Given the description of an element on the screen output the (x, y) to click on. 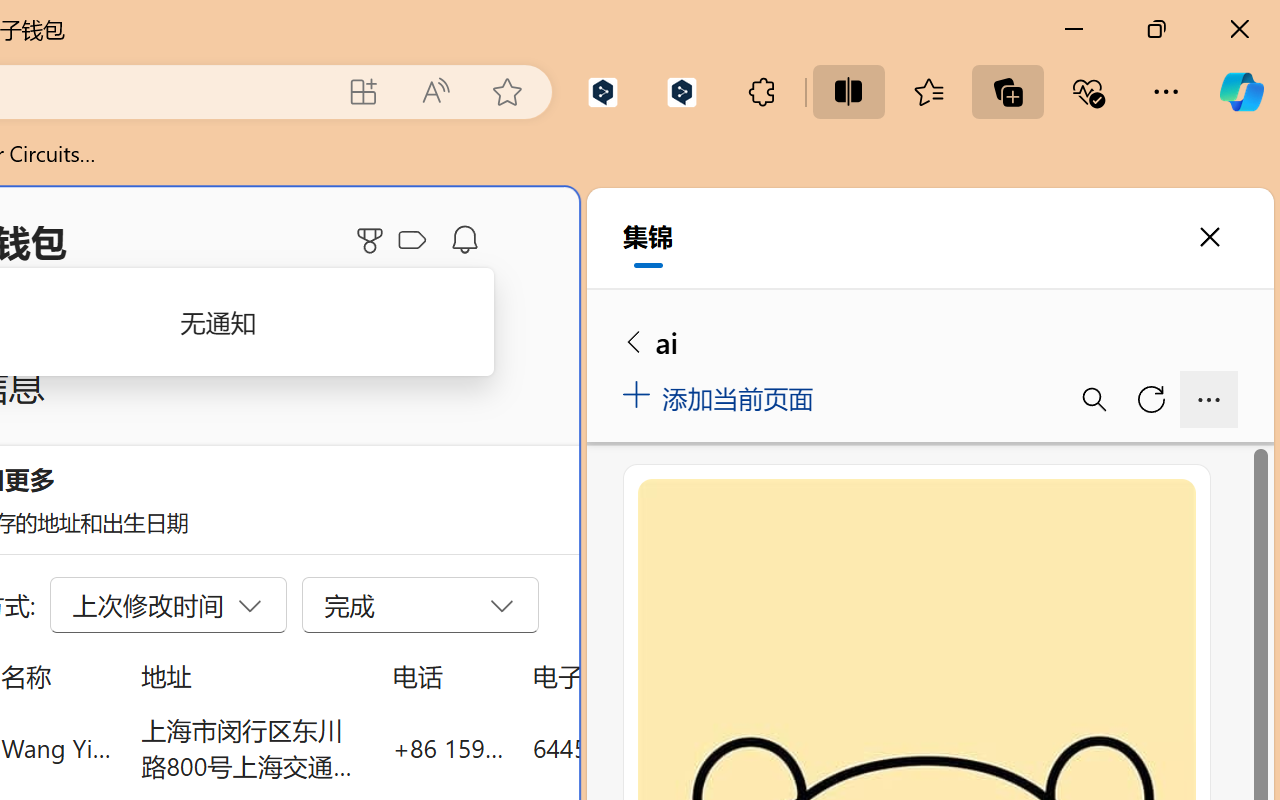
Microsoft Rewards (373, 240)
644553698@qq.com (644, 747)
+86 159 0032 4640 (447, 747)
